Given the description of an element on the screen output the (x, y) to click on. 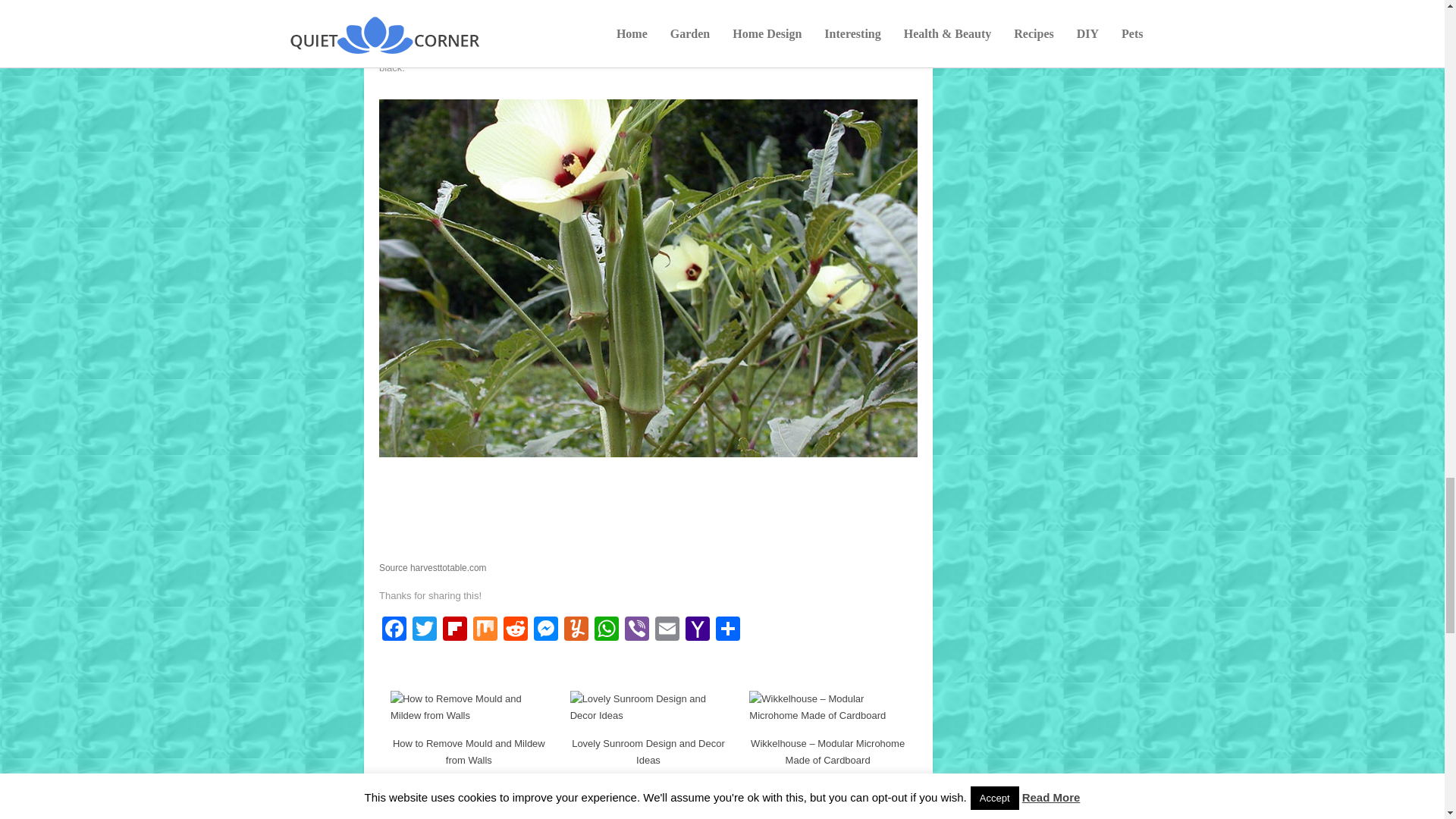
Mix (485, 630)
WhatsApp (606, 630)
Yummly (575, 630)
Flipboard (454, 630)
Email (667, 630)
Twitter (424, 630)
Reddit (515, 630)
Facebook Messenger (545, 630)
Viber (636, 630)
Facebook (393, 630)
